Given the description of an element on the screen output the (x, y) to click on. 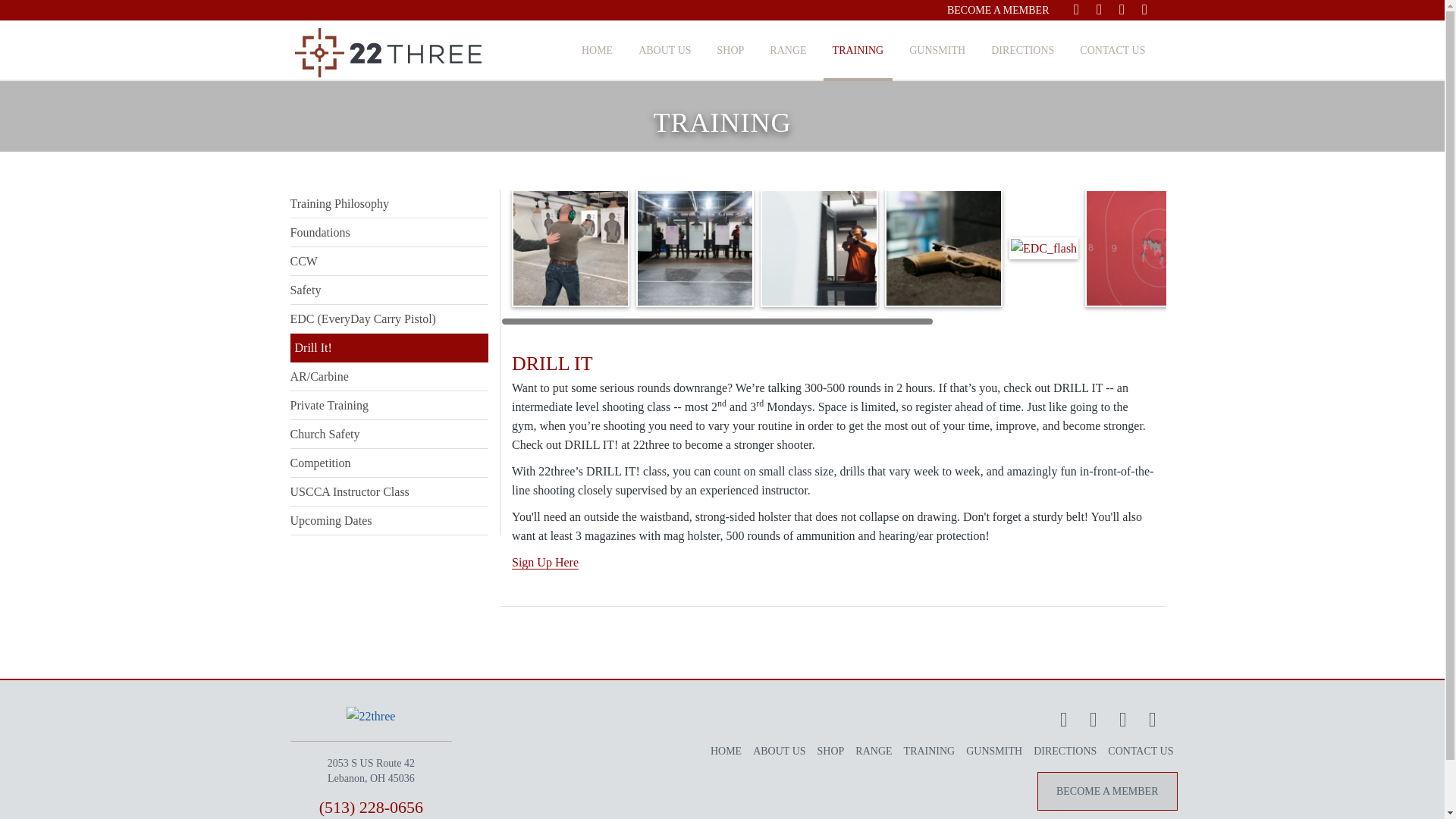
CONTACT US Element type: text (1140, 750)
Visit our YouTube Page Element type: text (1144, 9)
TRAINING Element type: text (858, 50)
GUNSMITH Element type: text (994, 750)
Upcoming Dates Element type: text (388, 520)
AR/Carbine Element type: text (388, 376)
HOME Element type: text (596, 50)
RANGE Element type: text (787, 50)
Visit our Twitter Page Element type: text (1098, 9)
CONTACT US Element type: text (1112, 50)
Training Philosophy Element type: text (388, 203)
USCCA Instructor Class Element type: text (388, 491)
Visit our YouTube Page Element type: text (1152, 719)
SHOP Element type: text (830, 750)
EDC (EveryDay Carry Pistol) Element type: text (388, 318)
SHOP Element type: text (730, 50)
RANGE Element type: text (873, 750)
2053 S US Route 42
Lebanon, OH 45036 Element type: text (370, 770)
22three Element type: hover (387, 52)
CCW Element type: text (388, 261)
BECOME A MEMBER Element type: text (999, 9)
DIRECTIONS Element type: text (1064, 750)
Visit our Facebook Page Element type: text (1075, 9)
Visit our Instagram Page Element type: text (1123, 719)
Competition Element type: text (388, 462)
GUNSMITH Element type: text (937, 50)
Safety Element type: text (388, 290)
TRAINING Element type: text (929, 750)
DIRECTIONS Element type: text (1022, 50)
(513) 228-0656 Element type: text (371, 806)
Visit our Twitter Page Element type: text (1092, 719)
ABOUT US Element type: text (664, 50)
BECOME A MEMBER Element type: text (1107, 790)
Foundations Element type: text (388, 232)
Private Training Element type: text (388, 405)
Visit our Instagram Page Element type: text (1121, 9)
Visit our Facebook Page Element type: text (1064, 719)
Church Safety Element type: text (388, 434)
Drill It! Element type: text (388, 347)
Sign Up Here Element type: text (544, 562)
ABOUT US Element type: text (779, 750)
HOME Element type: text (725, 750)
